Given the description of an element on the screen output the (x, y) to click on. 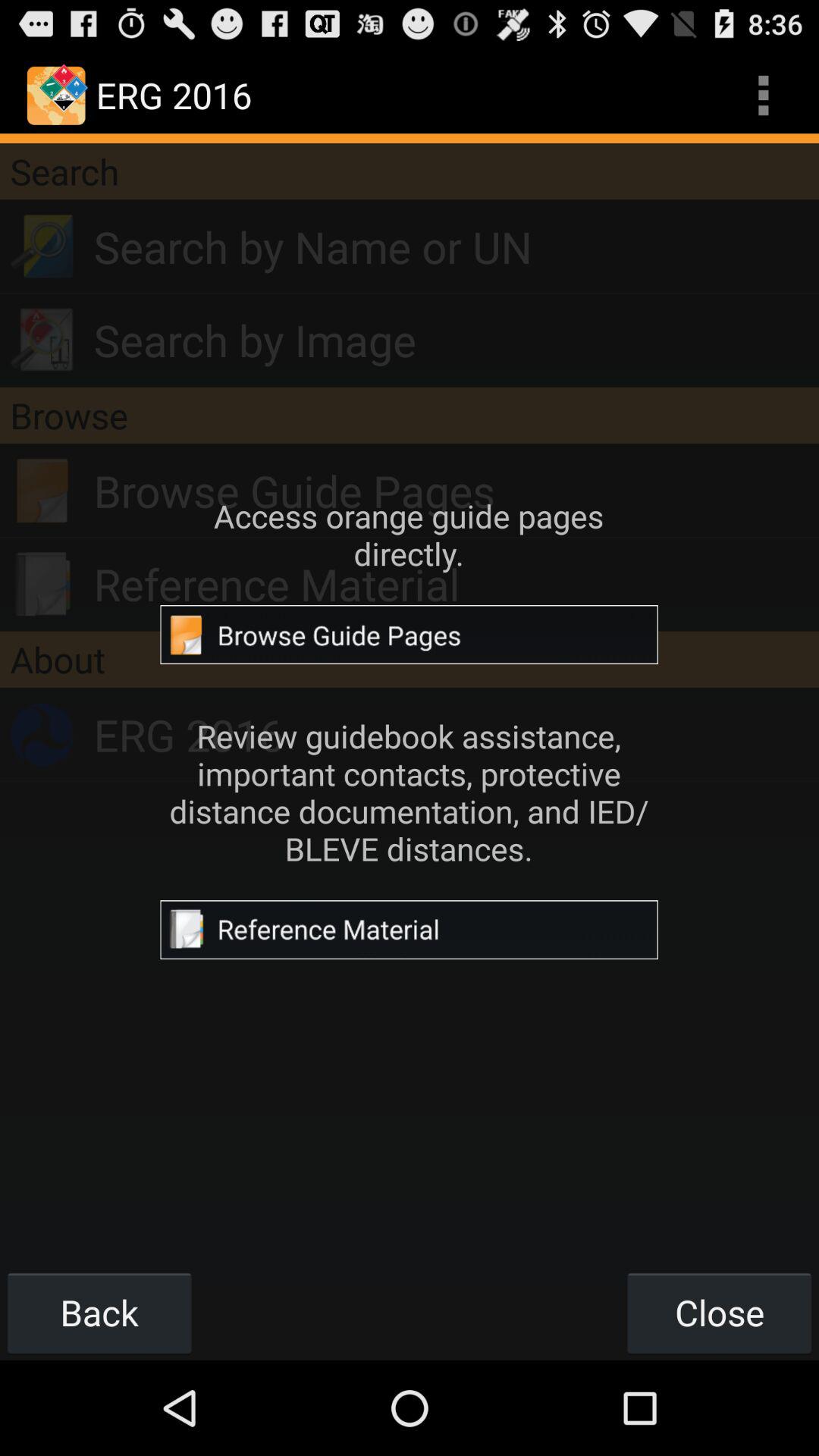
tap about (409, 659)
